Given the description of an element on the screen output the (x, y) to click on. 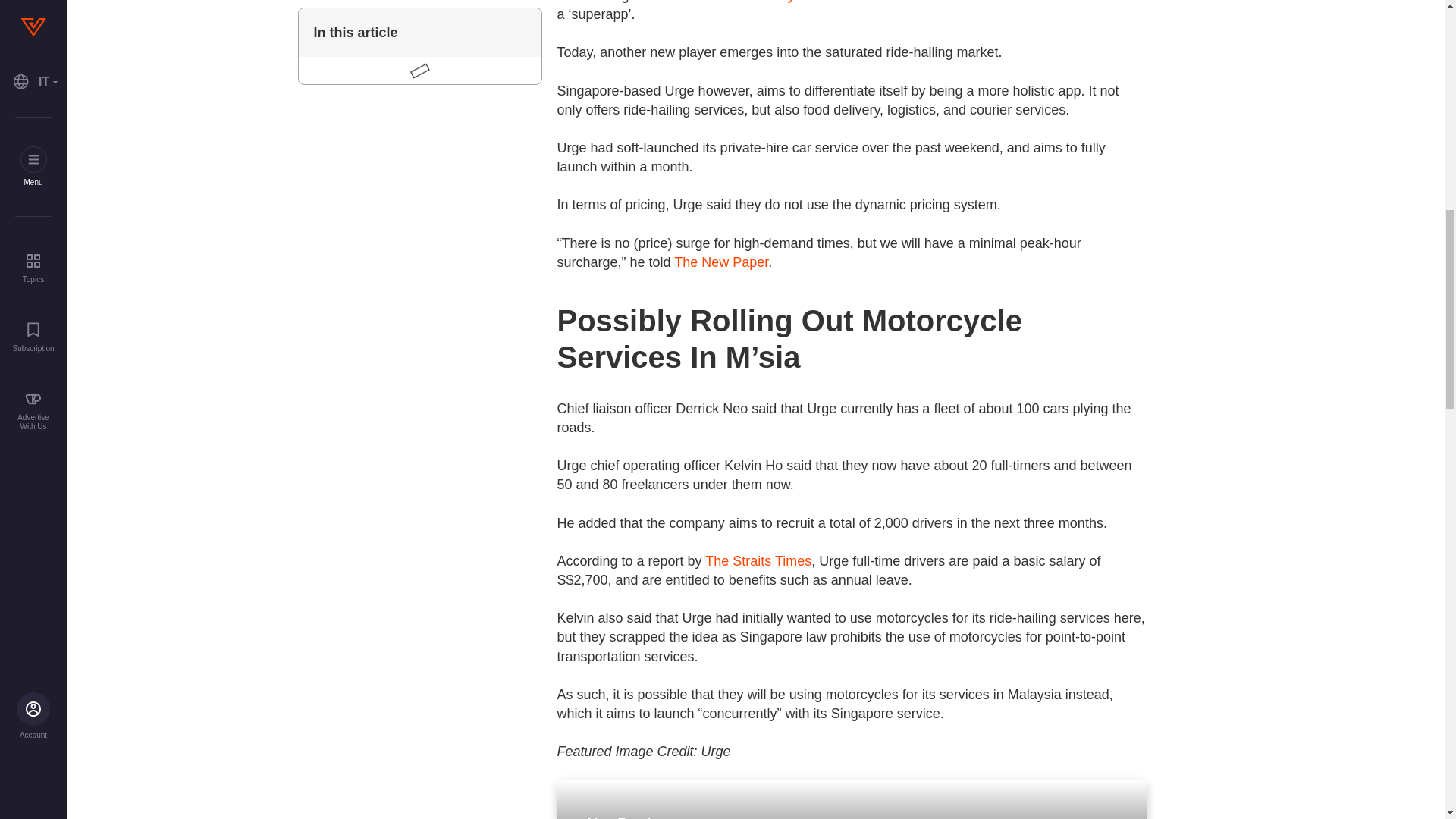
The New Paper (721, 262)
Ryde (793, 1)
The Straits Times (757, 560)
Grab (732, 1)
